Given the description of an element on the screen output the (x, y) to click on. 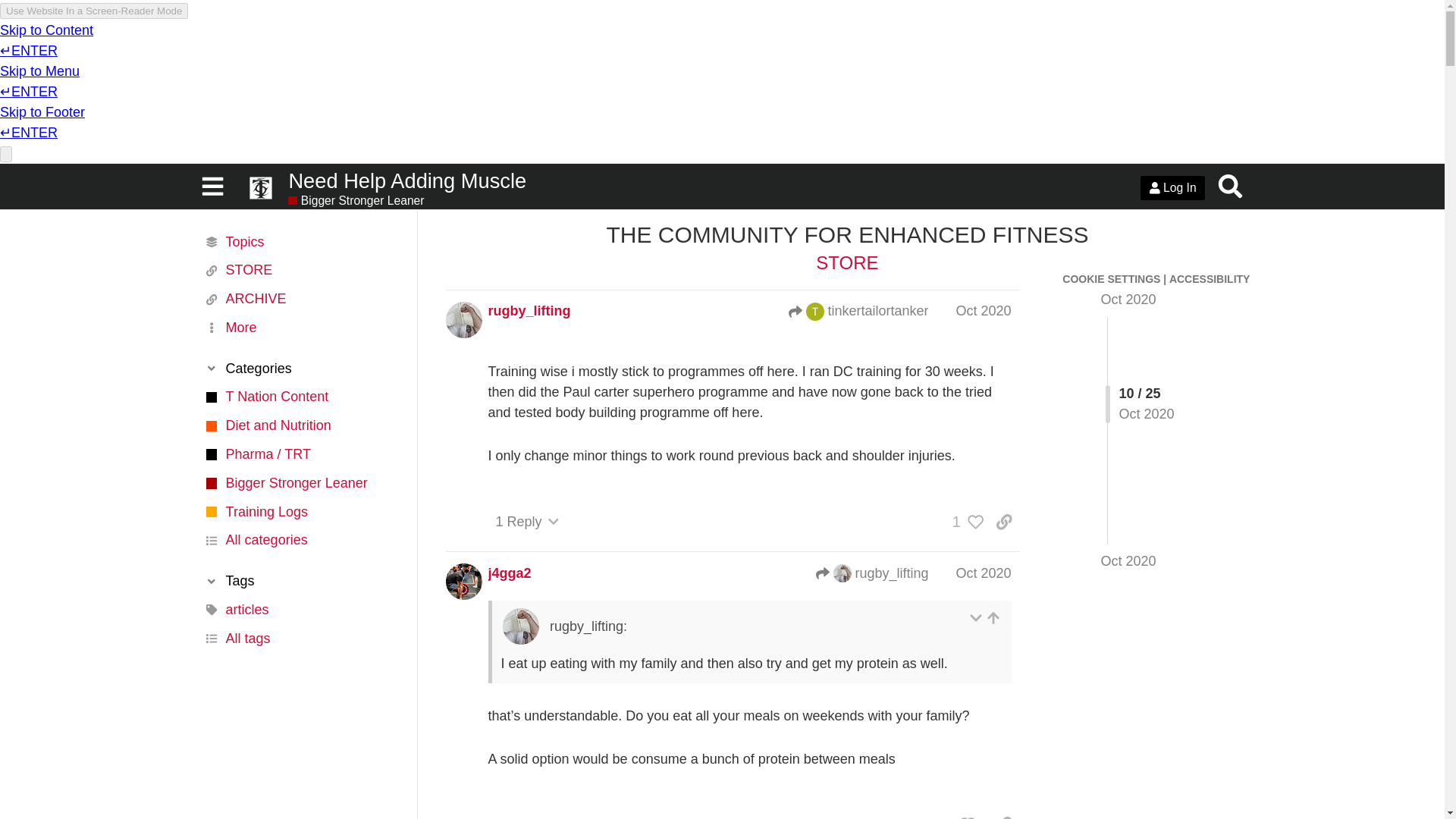
tinkertailortanker (815, 311)
Training Logs (300, 511)
Need Help Adding Muscle (701, 181)
Topics (300, 241)
Bigger Stronger Leaner (300, 482)
Oct 2020 (982, 310)
T Nation Content (300, 397)
Post date (982, 310)
ACCESSIBILITY (1209, 278)
articles (300, 609)
1 Reply (527, 521)
Toggle section (300, 368)
STORE (300, 270)
tinkertailortanker (858, 311)
All categories (300, 540)
